Given the description of an element on the screen output the (x, y) to click on. 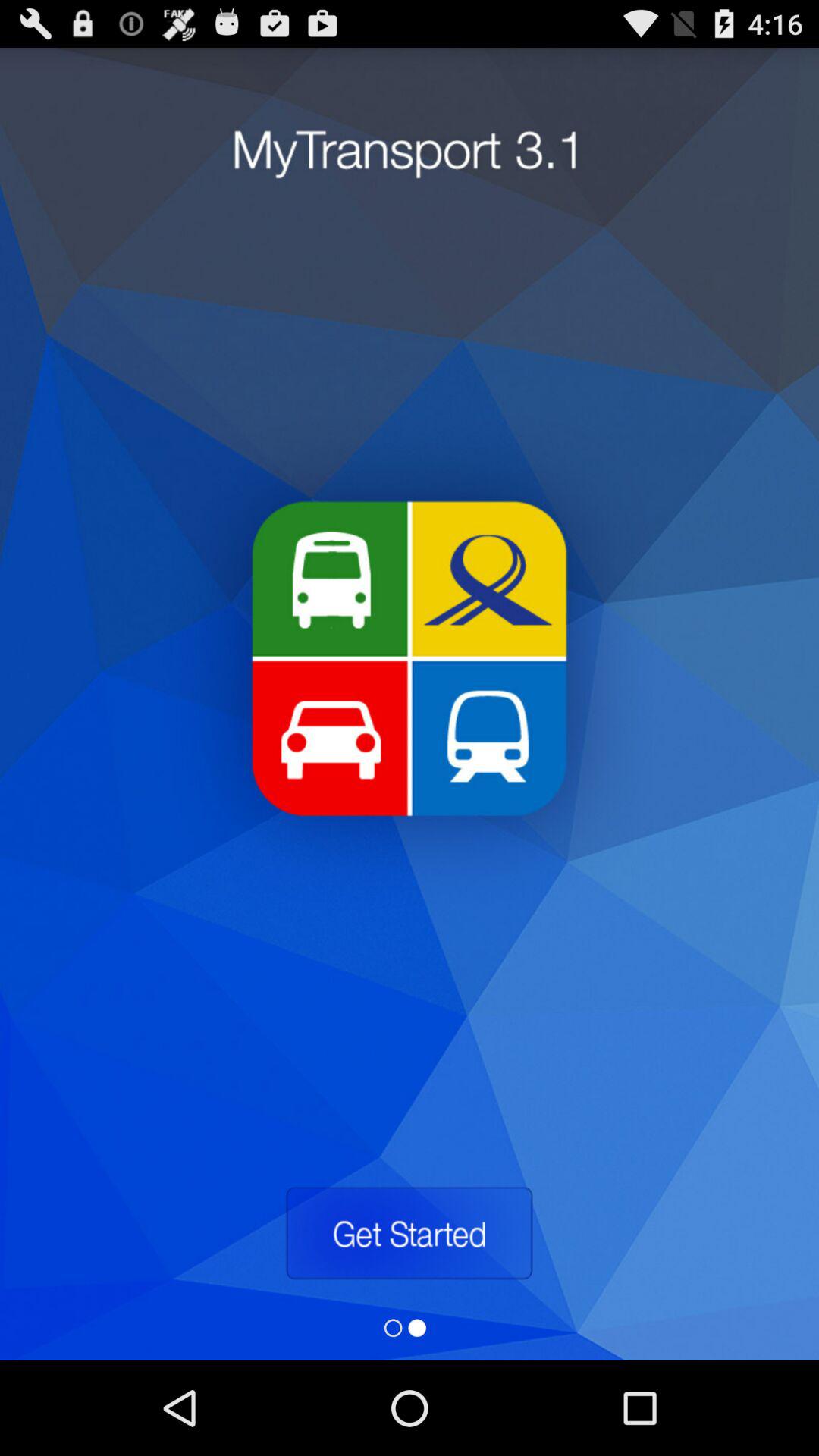
start application (408, 1232)
